Given the description of an element on the screen output the (x, y) to click on. 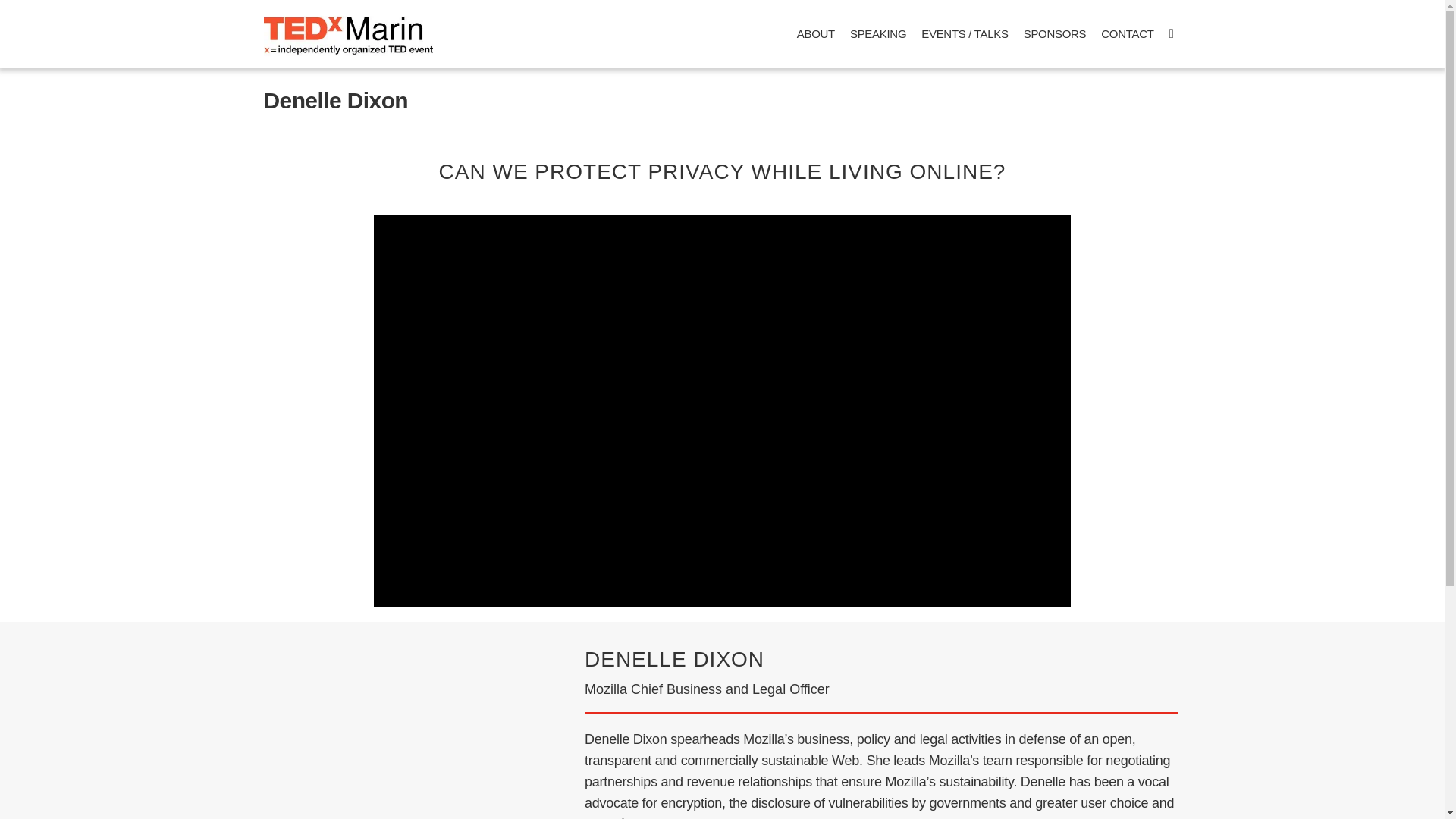
SPONSORS (1055, 33)
CONTACT (1126, 33)
Permanent Link: Denelle Dixon (336, 100)
Denelle Dixon (336, 100)
SPEAKING (878, 33)
